Given the description of an element on the screen output the (x, y) to click on. 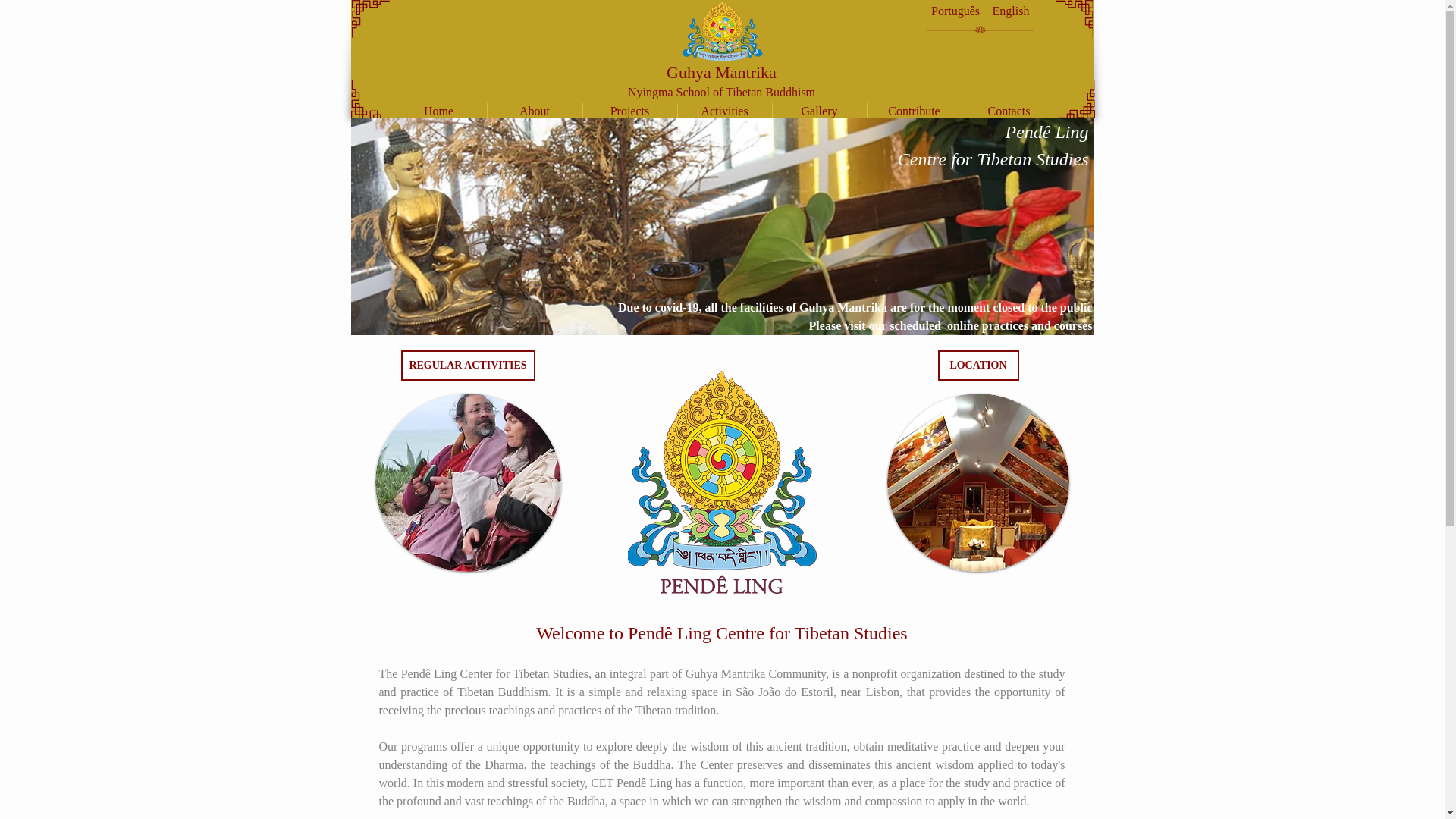
Gallery (818, 110)
Projects (629, 110)
Contribute (913, 110)
cantos-bordeaux.png (1075, 98)
Please visit our scheduled  online practices and courses (951, 325)
REGULAR ACTIVITIES (467, 365)
Nyingma School of Tibetan Buddhism (721, 91)
Guhya Mantrika (721, 72)
Contacts (1007, 110)
Home (438, 110)
Activities (724, 110)
About (533, 110)
English (1010, 11)
LOCATION (977, 365)
